Given the description of an element on the screen output the (x, y) to click on. 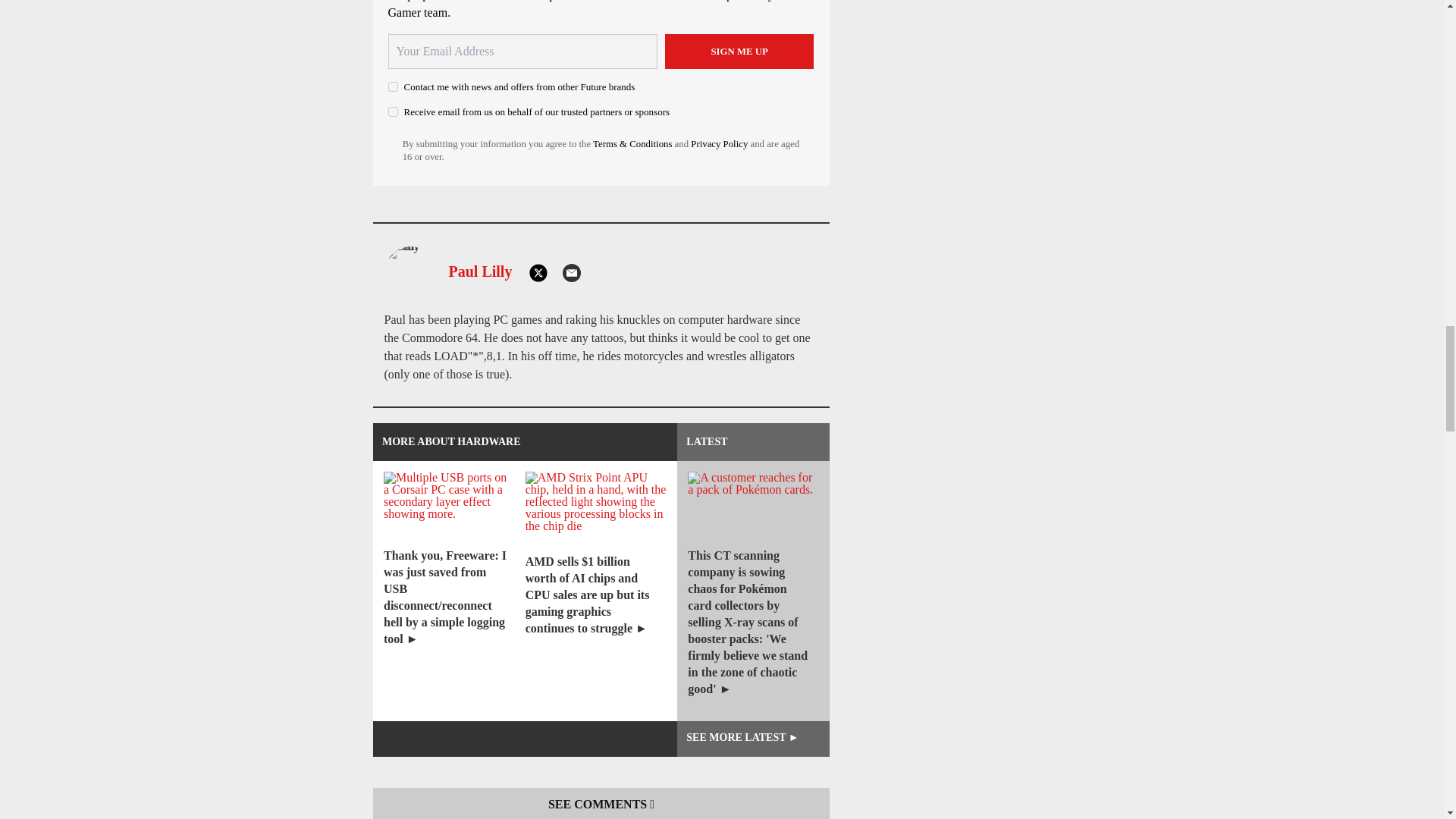
on (392, 86)
on (392, 112)
Sign me up (739, 51)
